Given the description of an element on the screen output the (x, y) to click on. 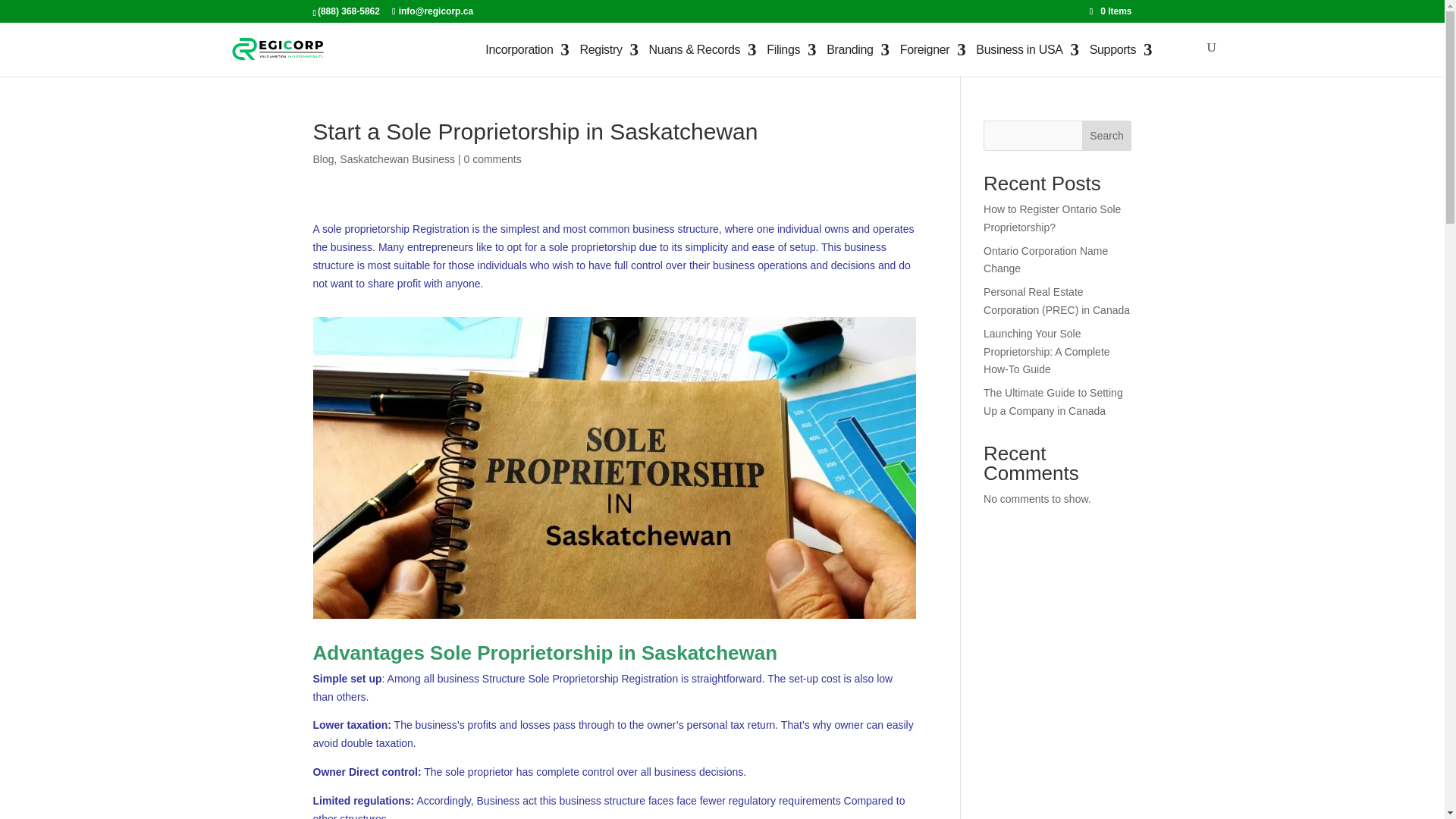
Start a Sole Proprietorship in Saskatchewan (614, 618)
Branding (850, 50)
0 Items (1110, 10)
Registry (600, 50)
Filings (783, 50)
Incorporation (518, 50)
